Given the description of an element on the screen output the (x, y) to click on. 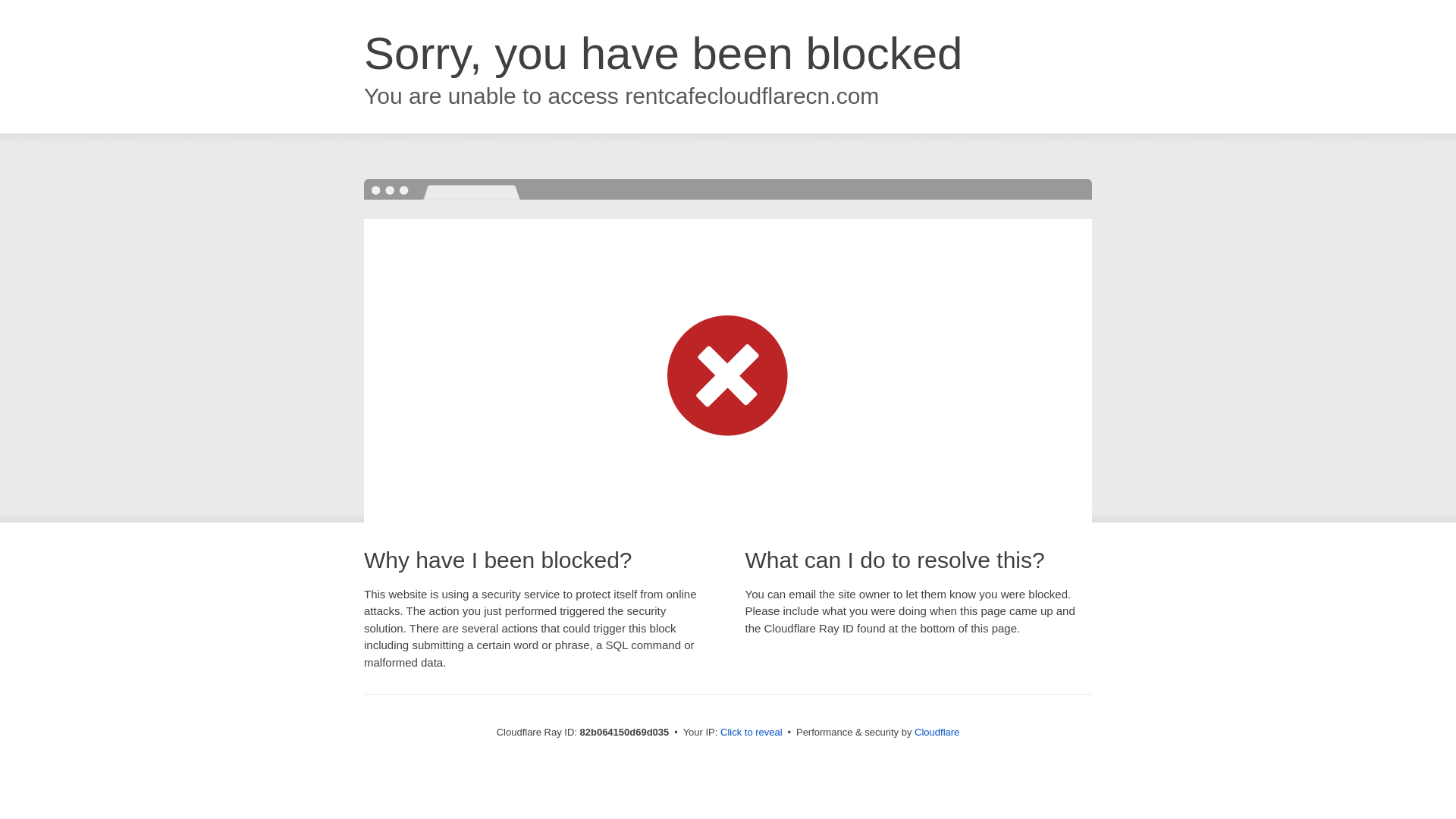
Cloudflare Element type: text (936, 731)
Click to reveal Element type: text (751, 732)
